Given the description of an element on the screen output the (x, y) to click on. 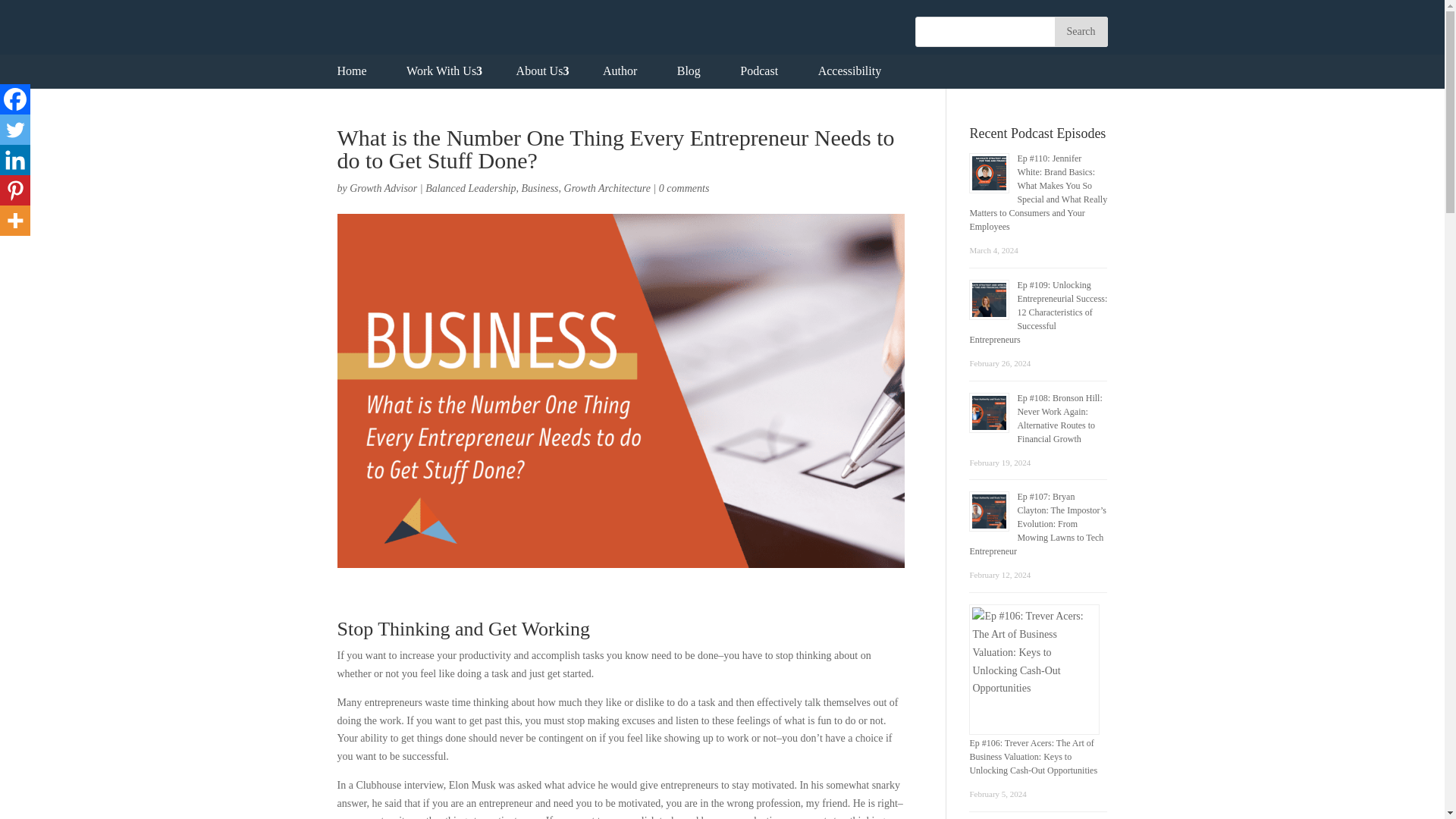
Posts by Growth Advisor (382, 188)
Search (1080, 31)
Pinterest (15, 190)
Facebook (15, 99)
Linkedin (15, 159)
Twitter (15, 129)
More (15, 220)
Search (1080, 31)
